Given the description of an element on the screen output the (x, y) to click on. 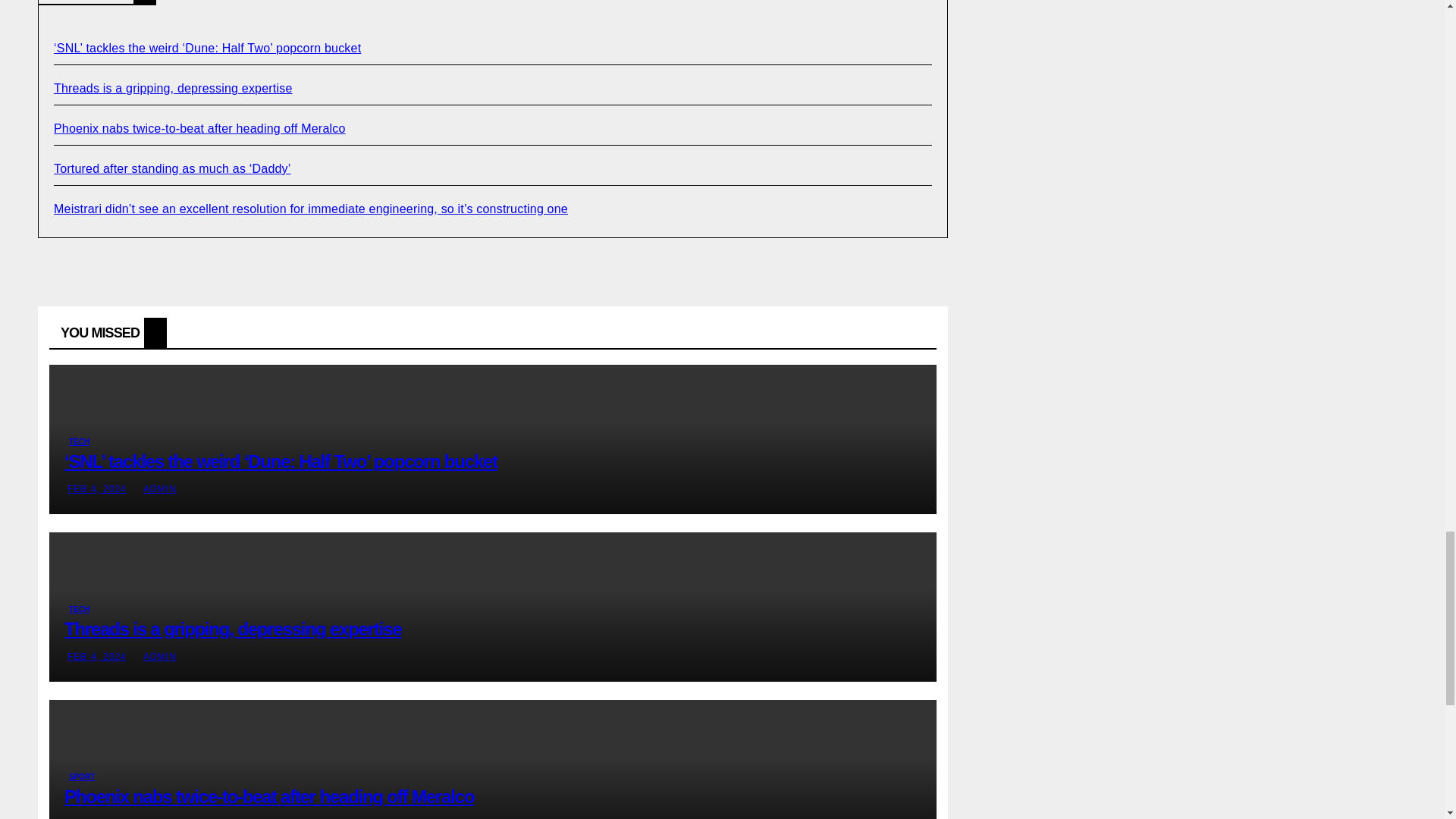
Permalink to: Threads is a gripping, depressing expertise (232, 629)
